Given the description of an element on the screen output the (x, y) to click on. 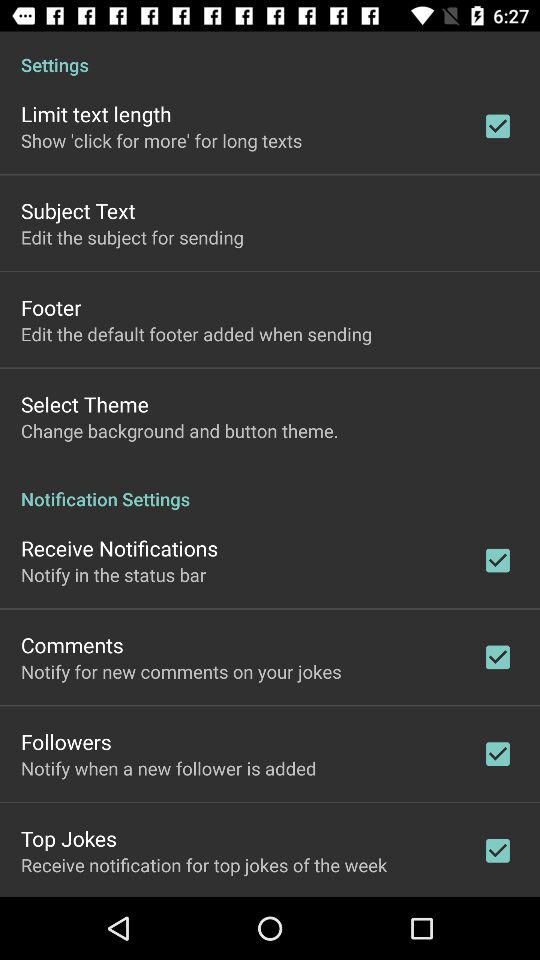
press the notify in the app (113, 574)
